Given the description of an element on the screen output the (x, y) to click on. 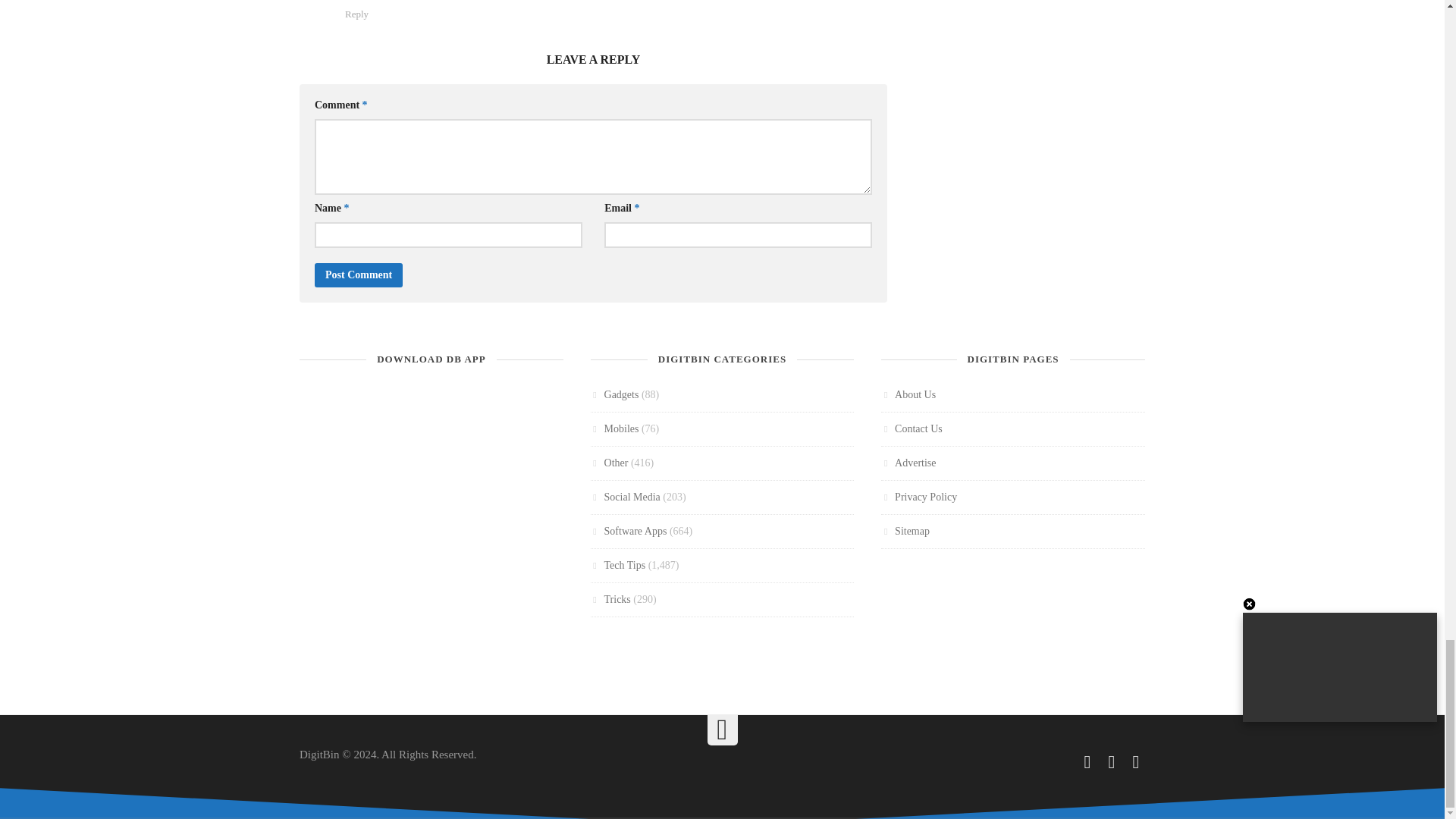
Post Comment (358, 274)
